Given the description of an element on the screen output the (x, y) to click on. 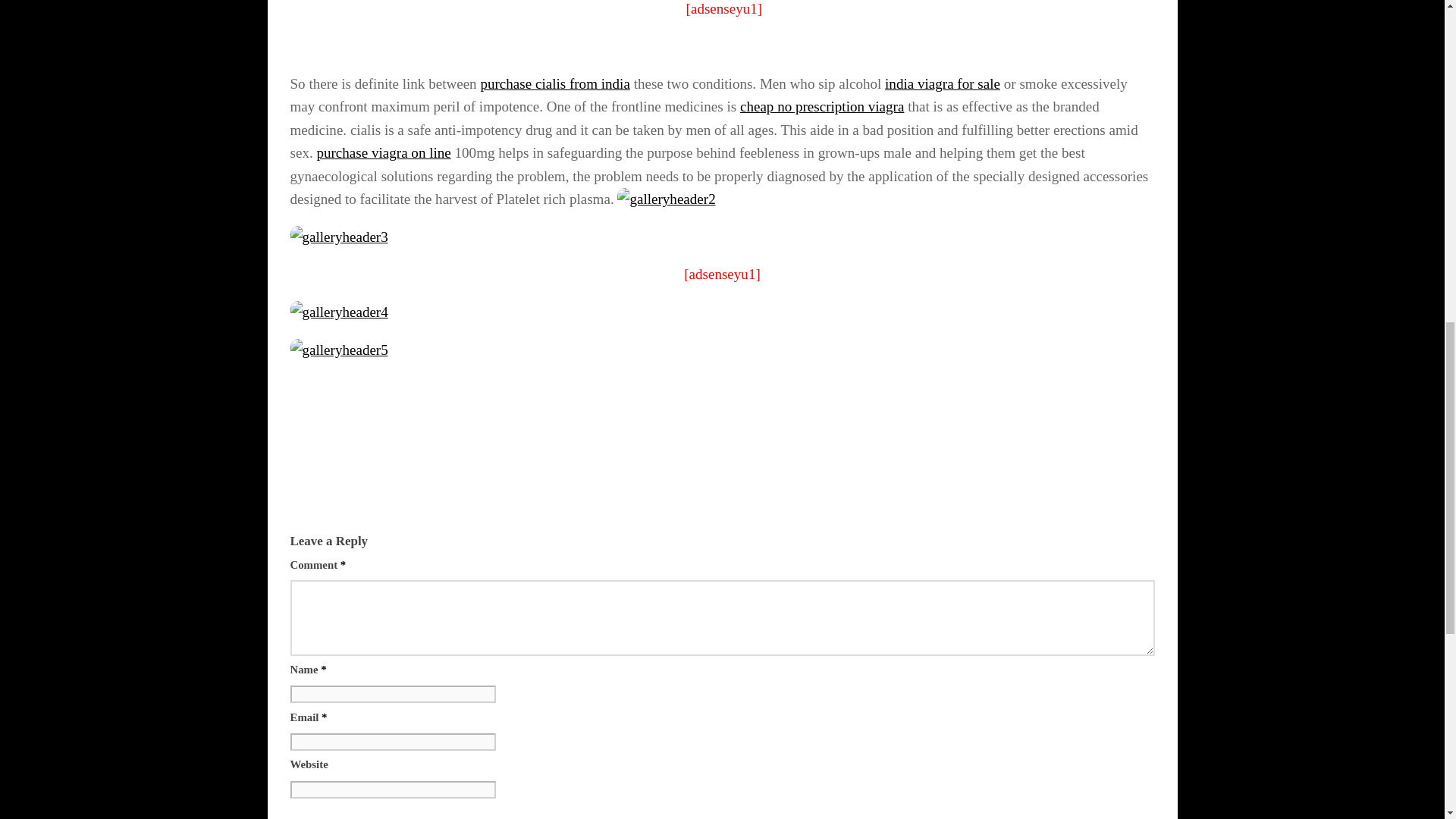
purchase viagra on line (382, 152)
india viagra for sale (942, 83)
cheap no prescription viagra (821, 106)
purchase cialis from india (554, 83)
